Given the description of an element on the screen output the (x, y) to click on. 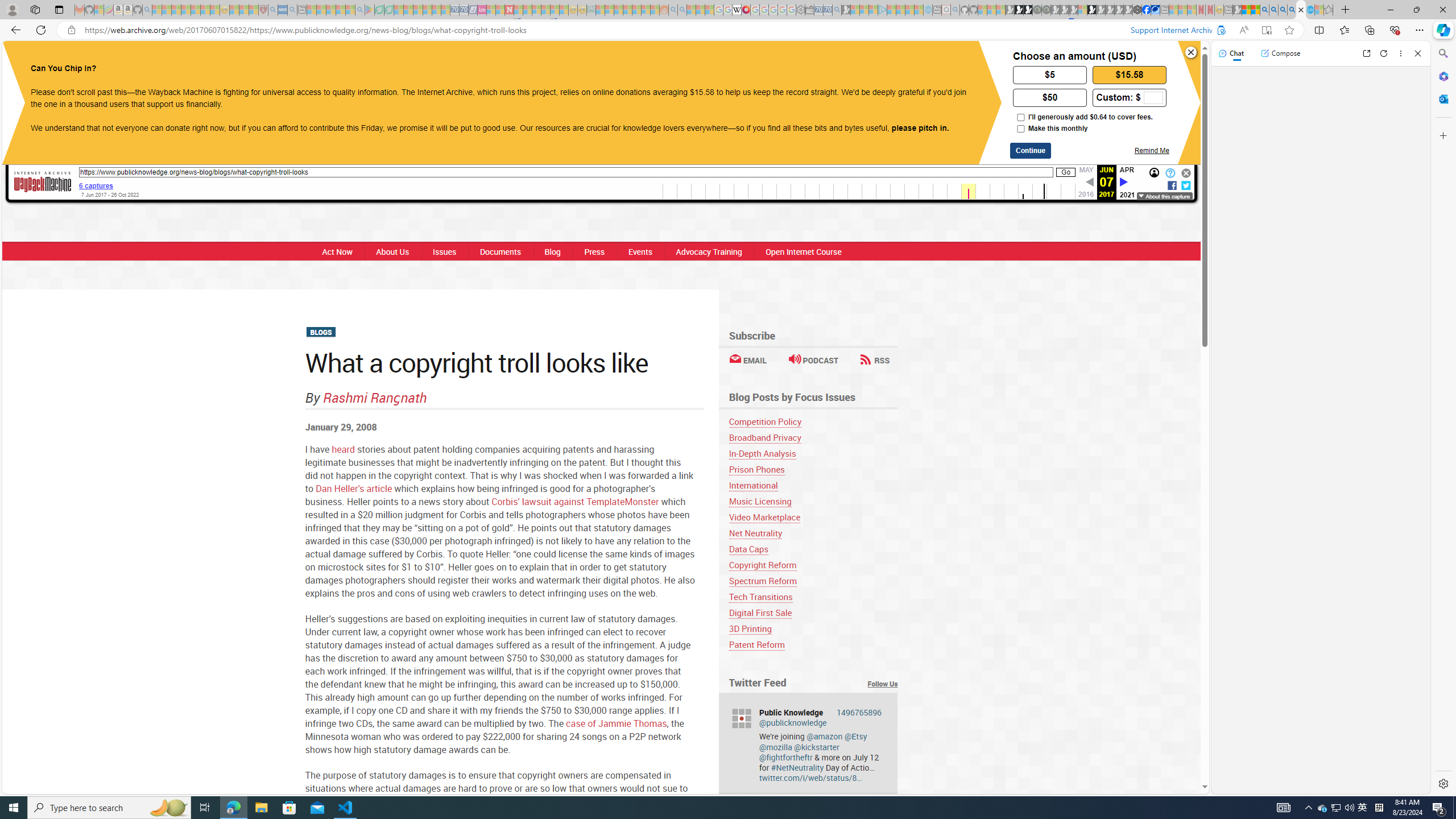
f (1171, 184)
Bing AI - Search (1264, 9)
Latest Politics News & Archive | Newsweek.com - Sleeping (508, 9)
Press (593, 251)
Advocacy Training (707, 251)
PODCAST (812, 360)
